Given the description of an element on the screen output the (x, y) to click on. 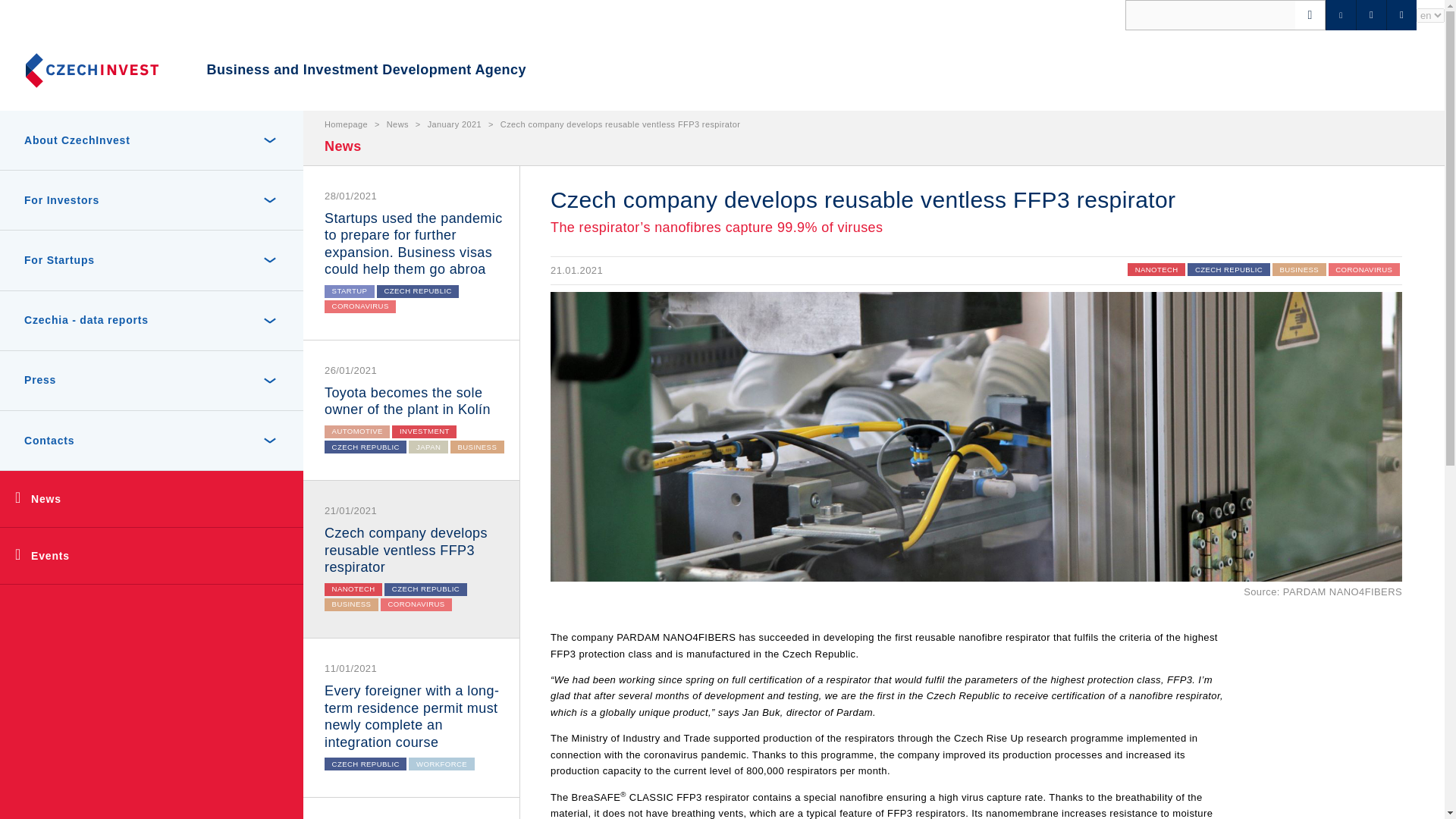
Search (39, 18)
